Given the description of an element on the screen output the (x, y) to click on. 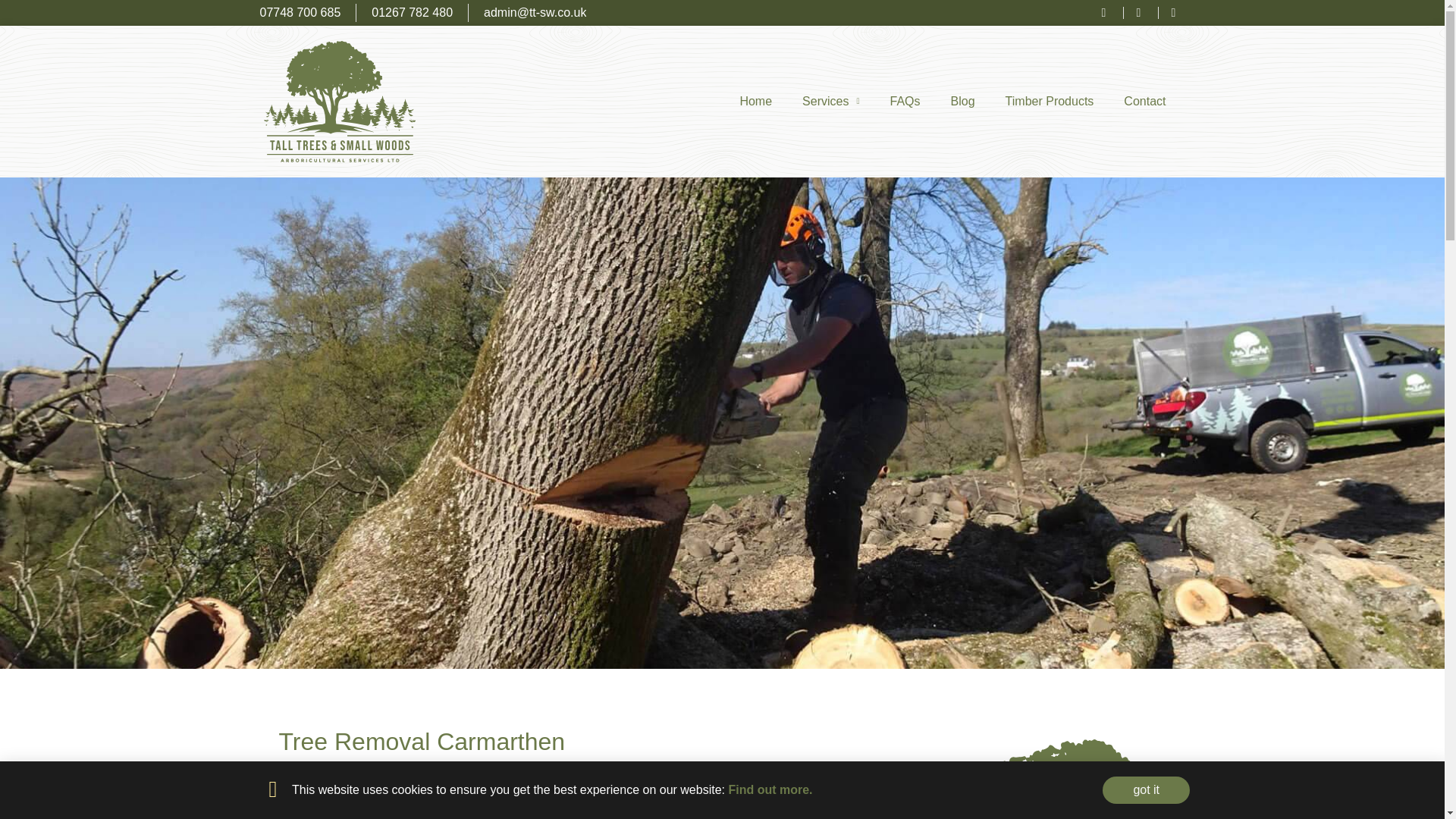
01267 782 480 (411, 4)
07748 700 685 (299, 4)
Contact (1144, 101)
Services (831, 101)
Home (755, 101)
Timber Products (1049, 101)
FAQs (905, 101)
Blog (963, 101)
